Given the description of an element on the screen output the (x, y) to click on. 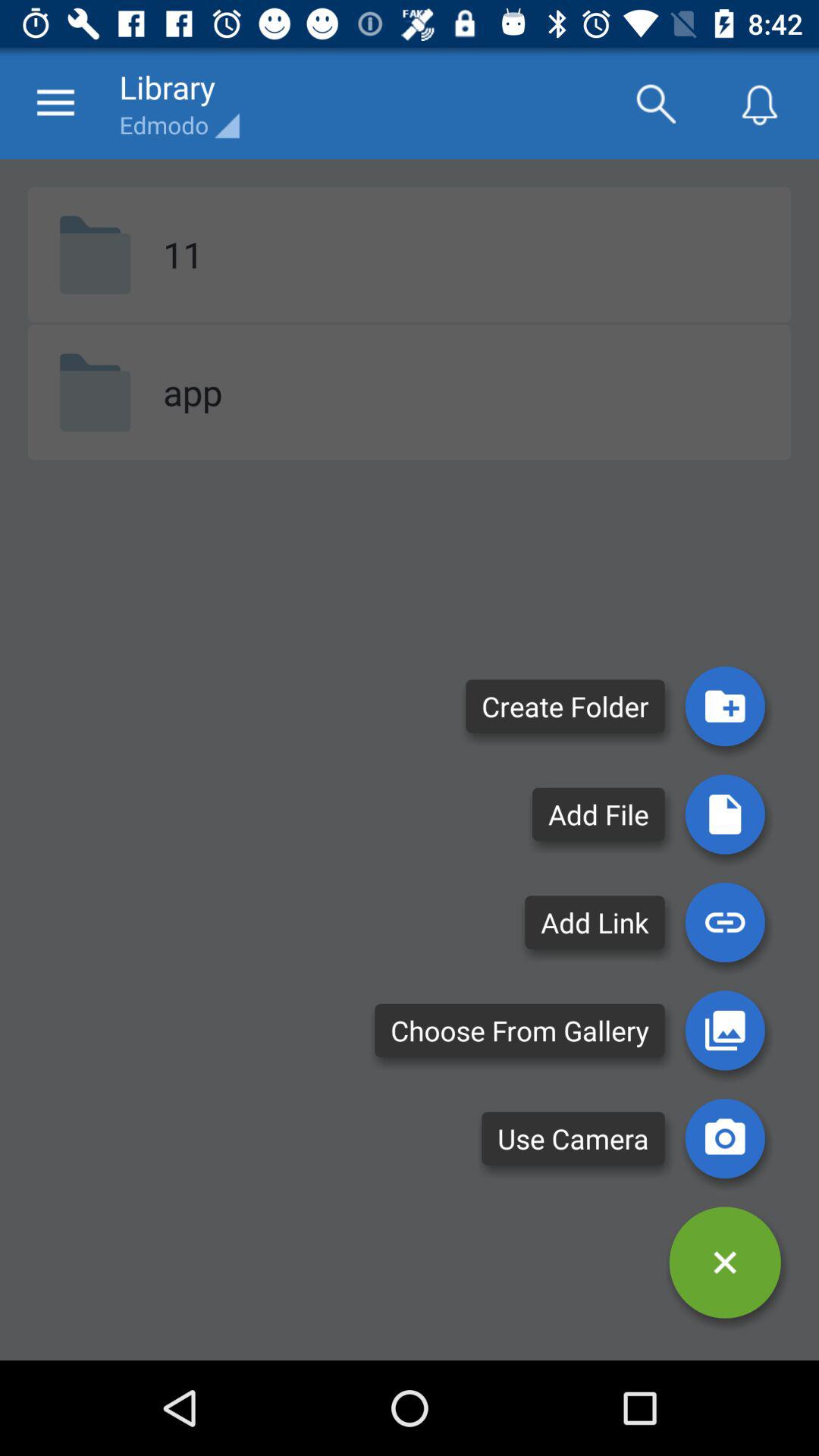
go to gallery (725, 1030)
